Given the description of an element on the screen output the (x, y) to click on. 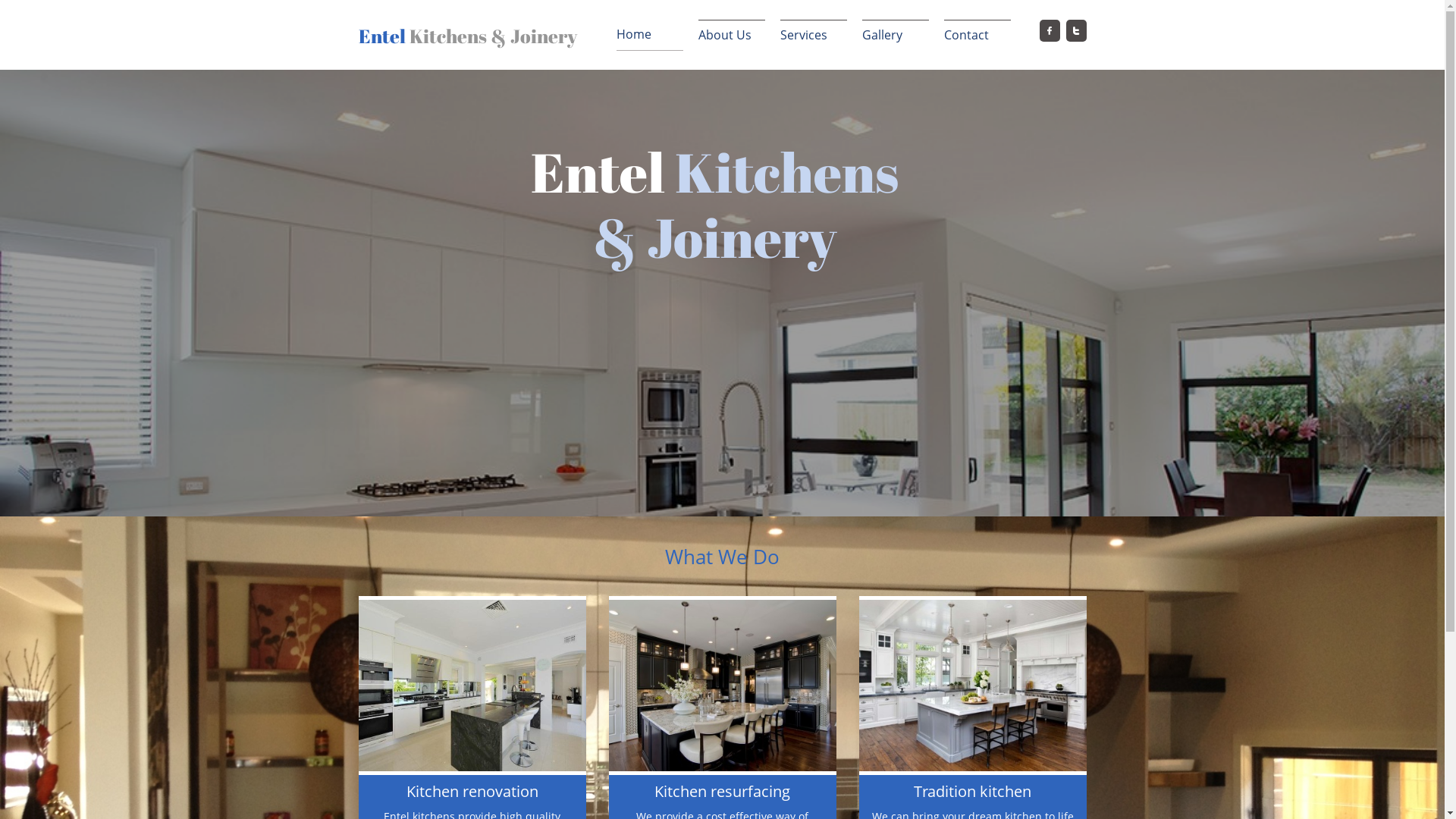
Home Element type: text (648, 34)
Gallery Element type: text (894, 34)
Services Element type: text (812, 34)
About Us Element type: text (730, 34)
Contact Element type: text (976, 34)
